Given the description of an element on the screen output the (x, y) to click on. 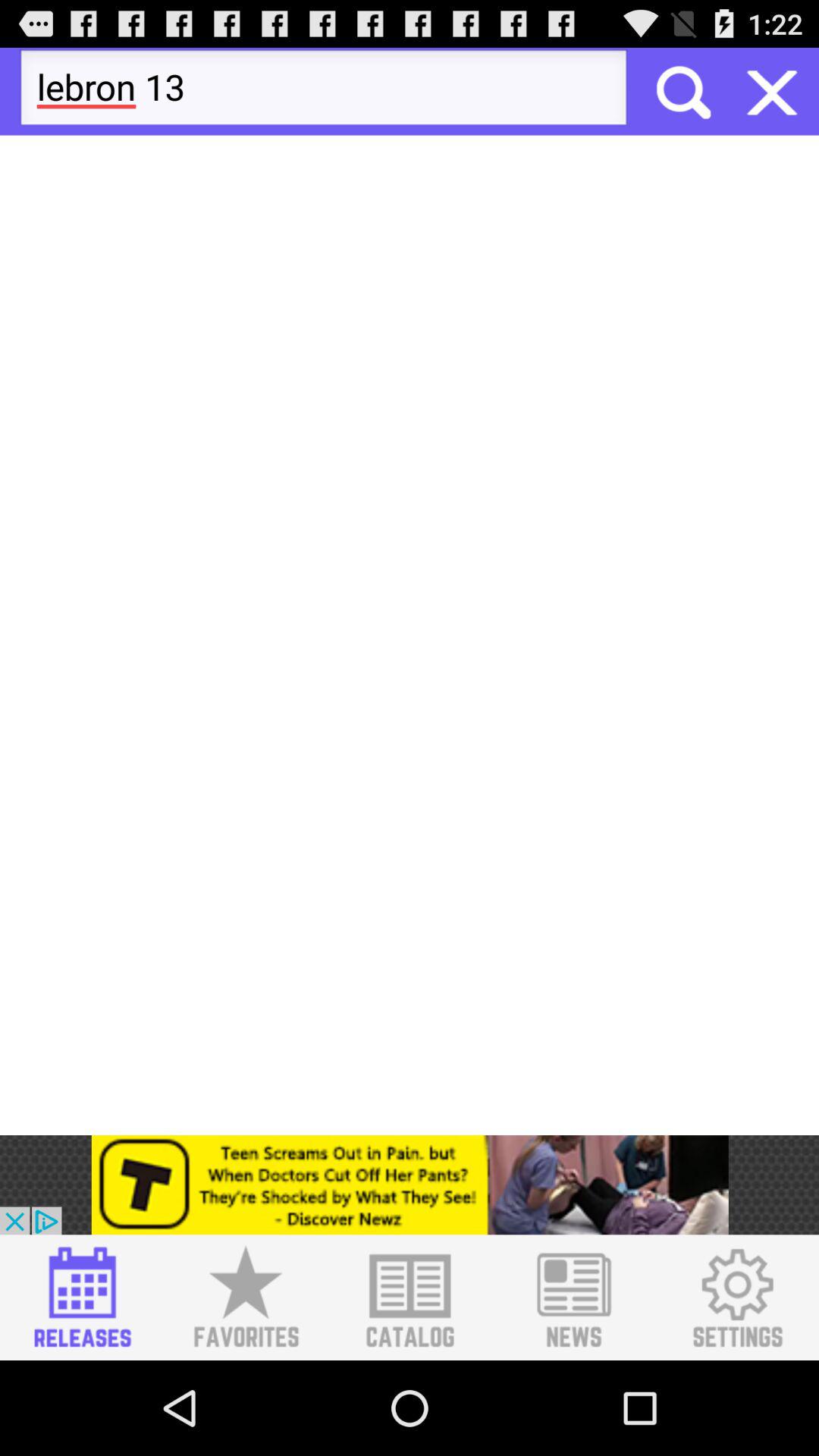
close button (772, 91)
